Given the description of an element on the screen output the (x, y) to click on. 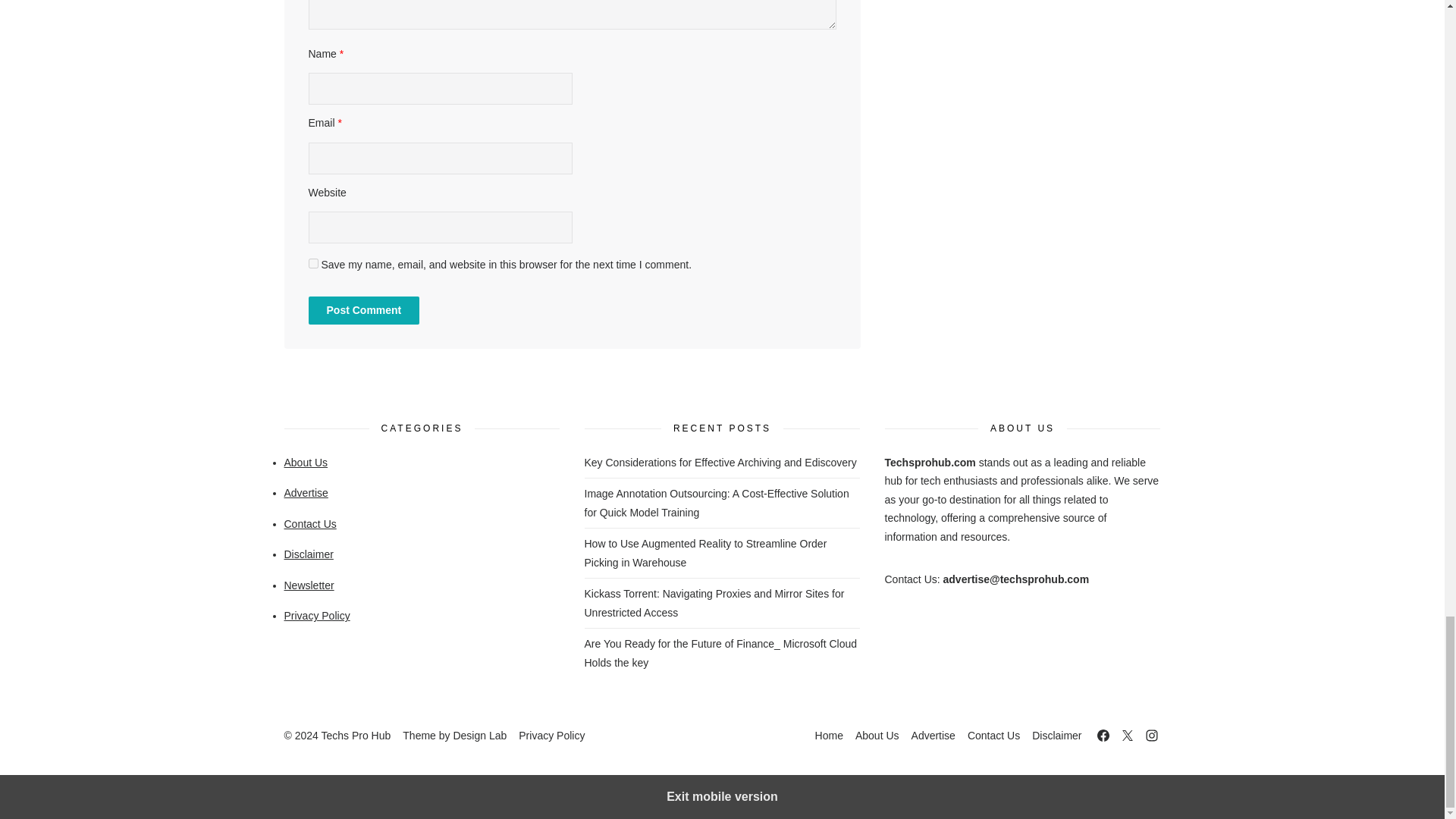
yes (312, 263)
Post Comment (363, 310)
